Given the description of an element on the screen output the (x, y) to click on. 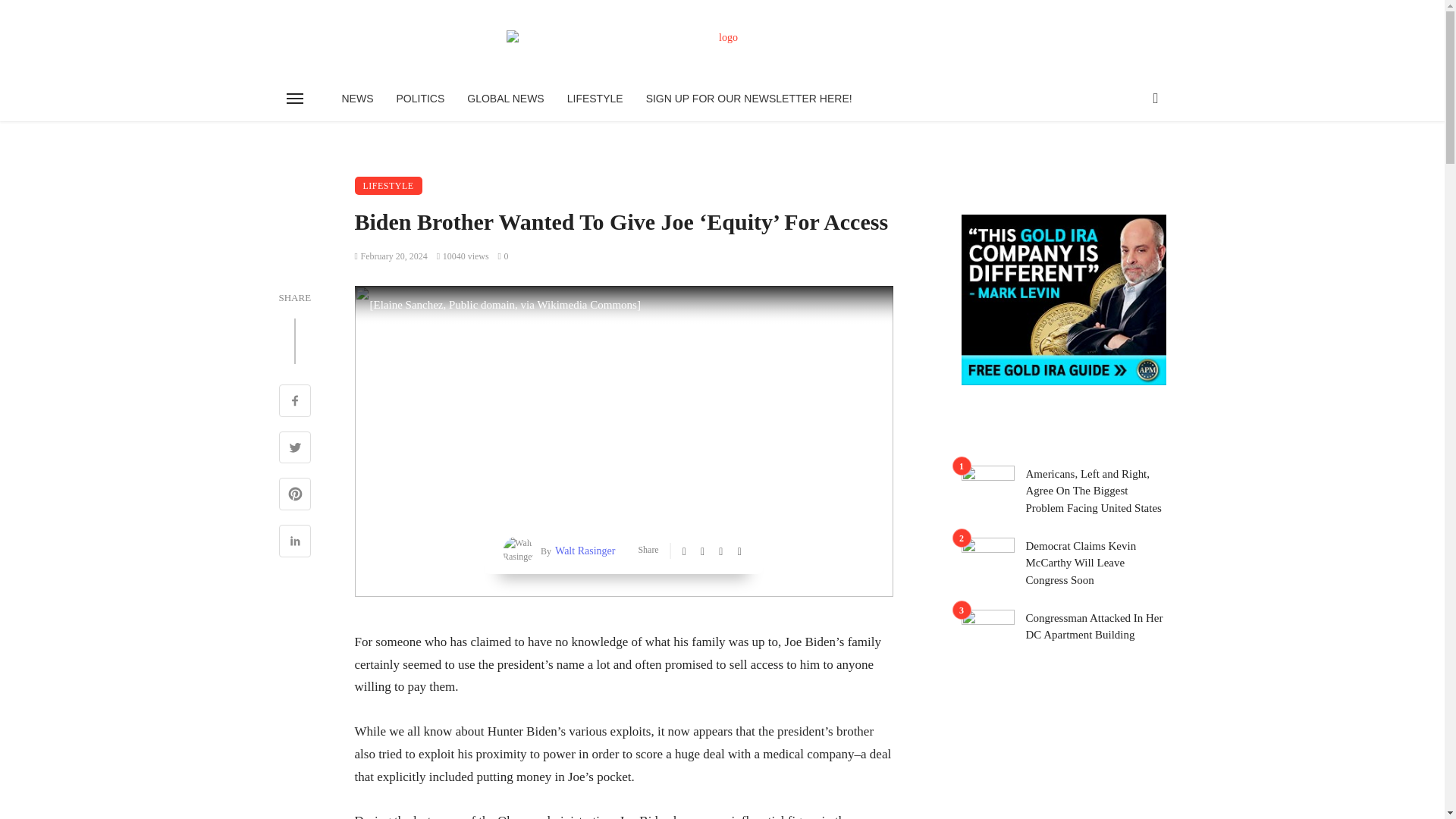
POLITICS (421, 98)
LIFESTYLE (595, 98)
LIFESTYLE (388, 185)
Walt Rasinger (582, 550)
Share on Twitter (295, 449)
NEWS (357, 98)
Share on Pinterest (295, 495)
0 Comments (502, 255)
February 20, 2024 at 3:06 am (391, 255)
0 (502, 255)
